Given the description of an element on the screen output the (x, y) to click on. 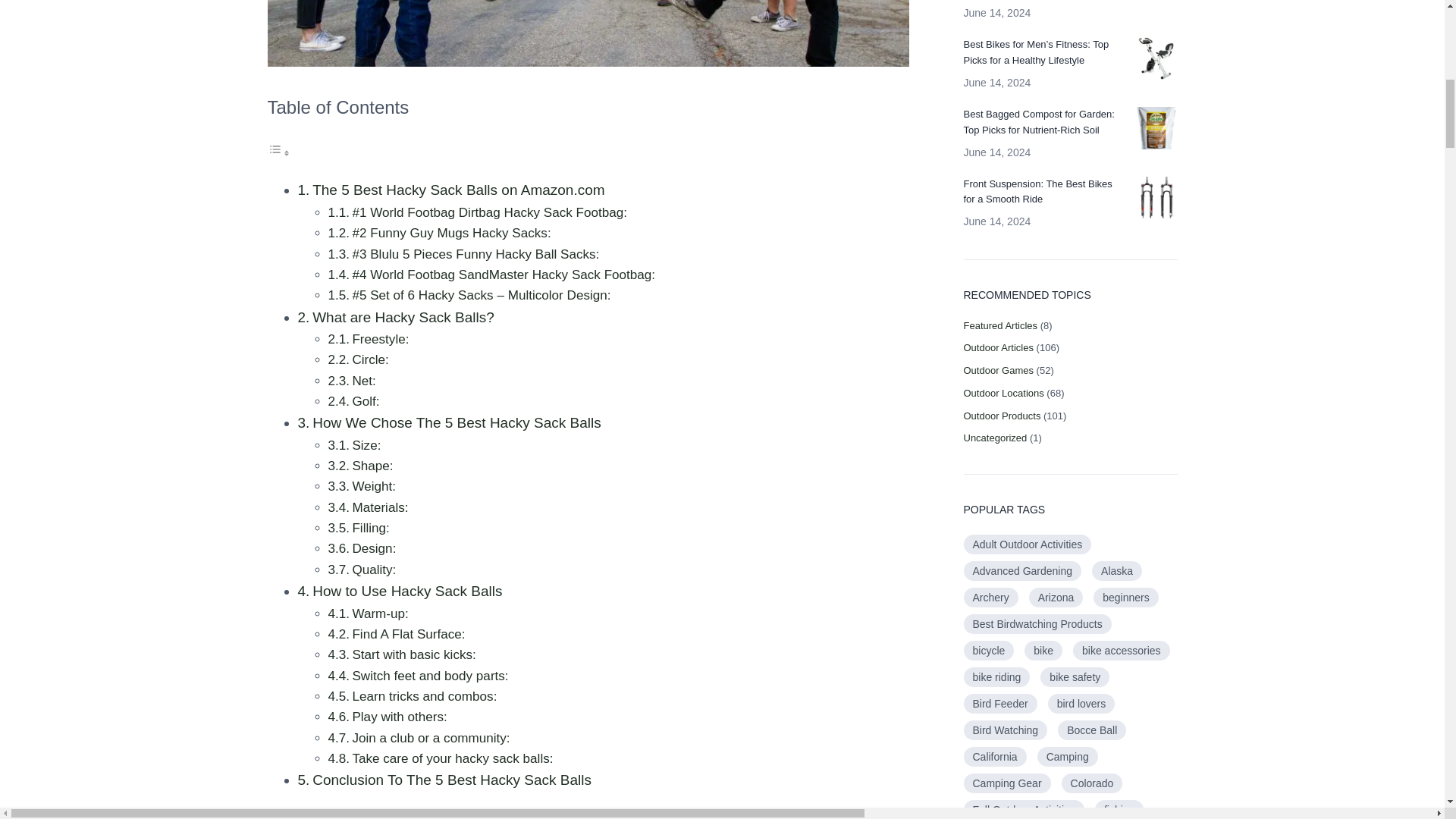
How to Use Hacky Sack Balls (407, 590)
Weight:  (374, 486)
The 5 Best Hacky Sack Balls on Amazon.com (458, 189)
What are Hacky Sack Balls? (404, 317)
Weight: (374, 486)
Shape: (372, 465)
Circle:  (370, 359)
Size: (366, 445)
Warm-up: (379, 613)
Materials: (379, 507)
Golf:  (365, 400)
Golf: (365, 400)
Quality: (374, 569)
Materials:  (379, 507)
How We Chose The 5 Best Hacky Sack Balls (457, 422)
